Given the description of an element on the screen output the (x, y) to click on. 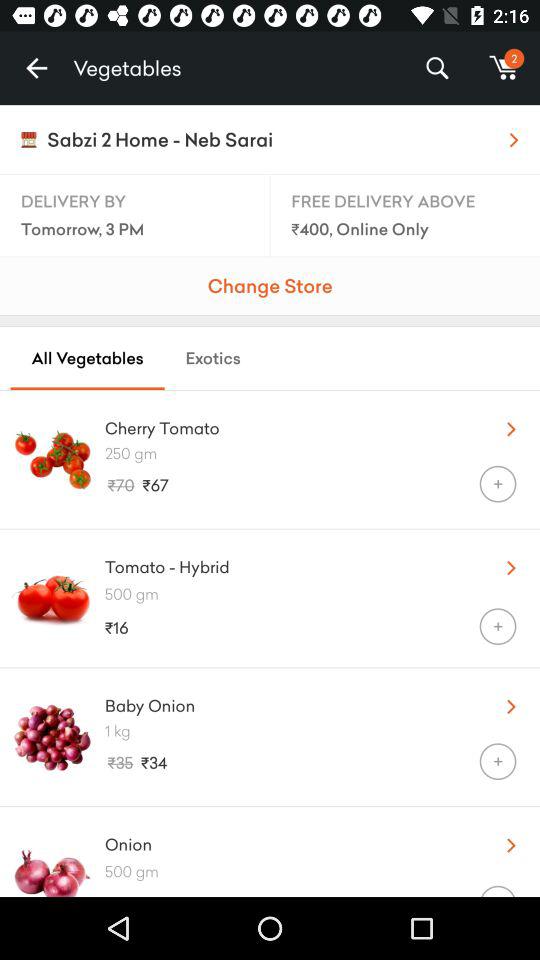
flip until the cherry tomato (288, 424)
